Given the description of an element on the screen output the (x, y) to click on. 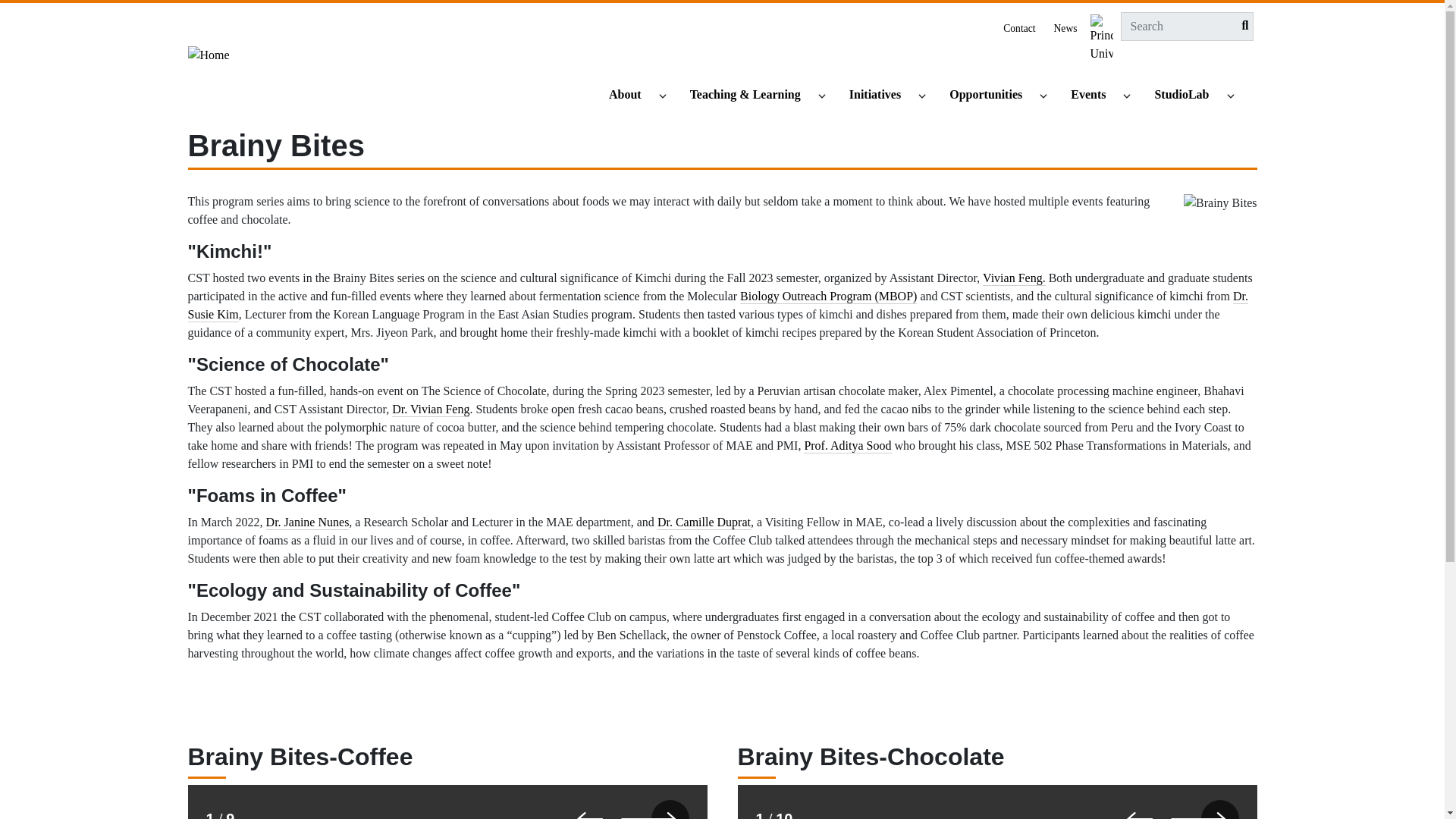
Opportunities (992, 95)
About (631, 95)
Find courses... (751, 95)
Submit (1240, 25)
Home (208, 60)
Initiatives (881, 95)
Events (1094, 95)
